Given the description of an element on the screen output the (x, y) to click on. 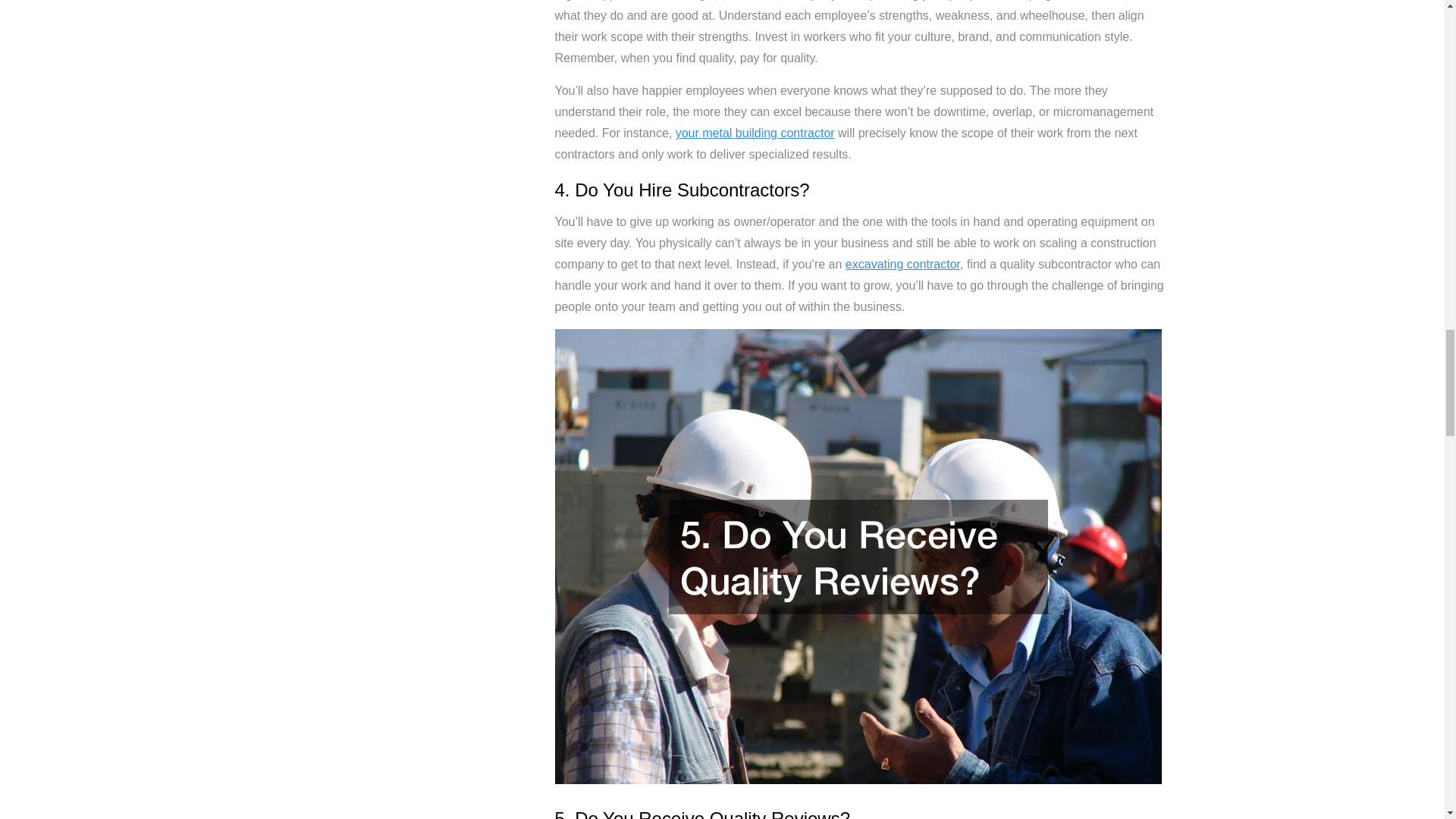
your metal building contractor (754, 132)
excavating contractor (902, 264)
